Given the description of an element on the screen output the (x, y) to click on. 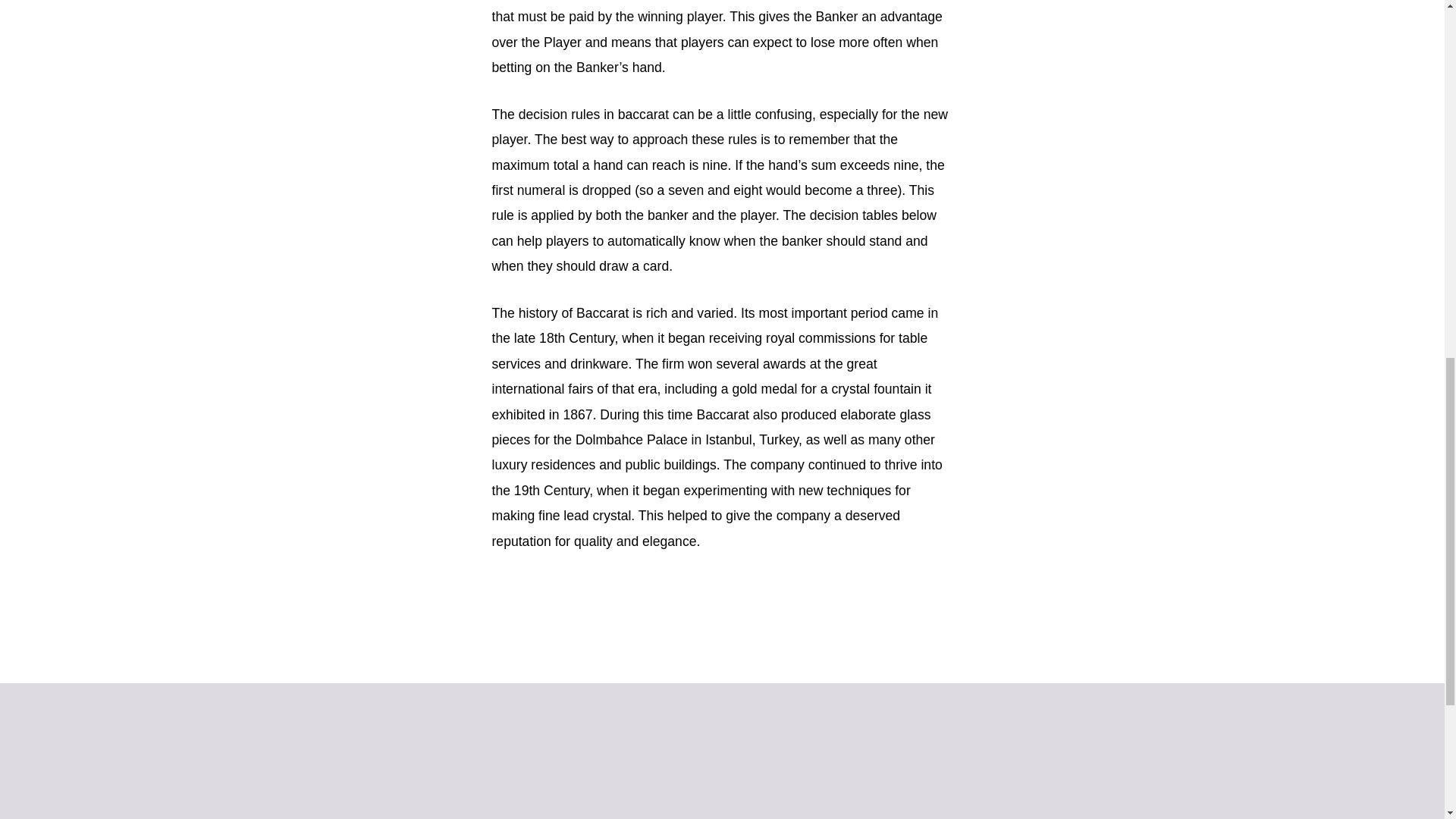
Keluaran HK (823, 816)
Gambling (698, 816)
Home (598, 816)
